Given the description of an element on the screen output the (x, y) to click on. 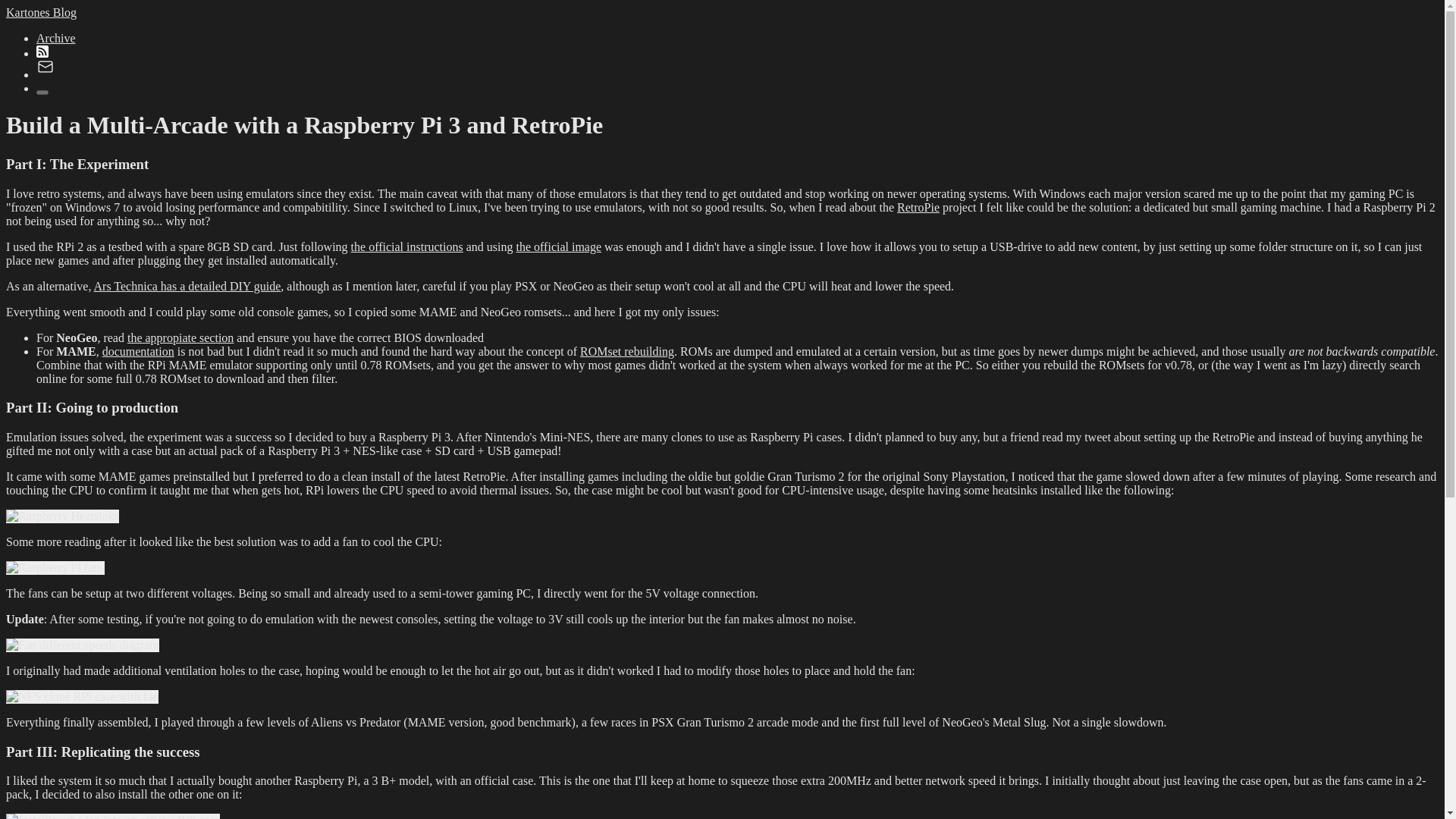
the appropiate section (180, 337)
Kartones Blog (41, 11)
Ars Technica has a detailed DIY guide (187, 286)
Archive (55, 38)
RSS Feed (42, 52)
the official image (559, 246)
RetroPie (917, 206)
Contact (45, 74)
Switch between dark and light mode (42, 92)
the official instructions (406, 246)
documentation (137, 350)
ROMset rebuilding (626, 350)
